Given the description of an element on the screen output the (x, y) to click on. 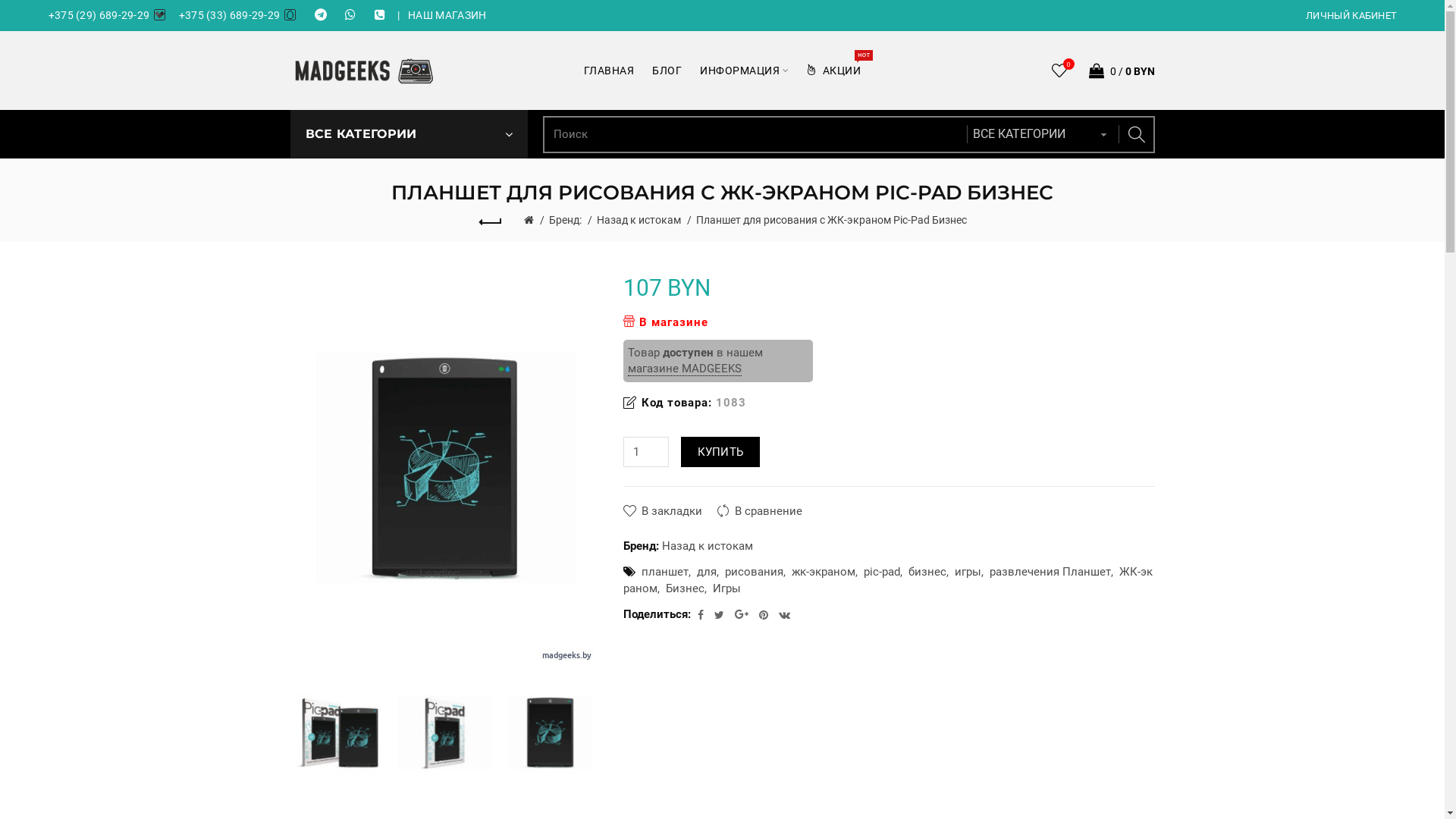
+375 (29) 689-29-29 Element type: text (111, 15)
+375 (33) 689-29-29 Element type: text (241, 15)
0 / 0 BYN Element type: text (1117, 70)
0 Element type: text (1059, 70)
Madgeeks.by Element type: hover (363, 70)
pic-pad Element type: text (877, 571)
